Given the description of an element on the screen output the (x, y) to click on. 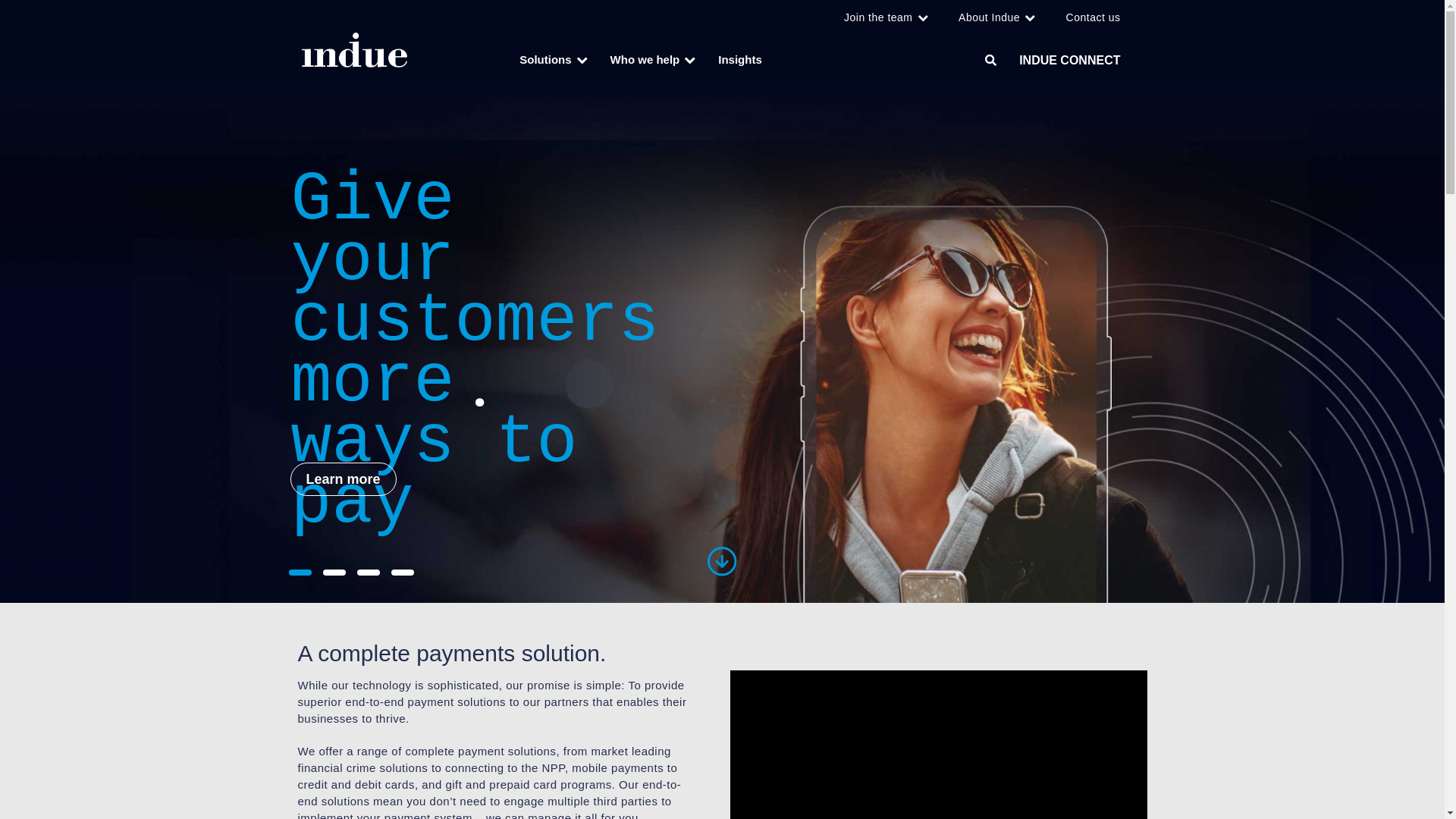
INDUE CONNECT Element type: text (1069, 59)
About Indue Element type: text (996, 17)
Who we help Element type: text (652, 59)
Solutions Element type: text (552, 59)
Join the team Element type: text (885, 17)
Learn more Element type: text (342, 478)
Insights Element type: text (739, 59)
Contact us Element type: text (1093, 17)
